Given the description of an element on the screen output the (x, y) to click on. 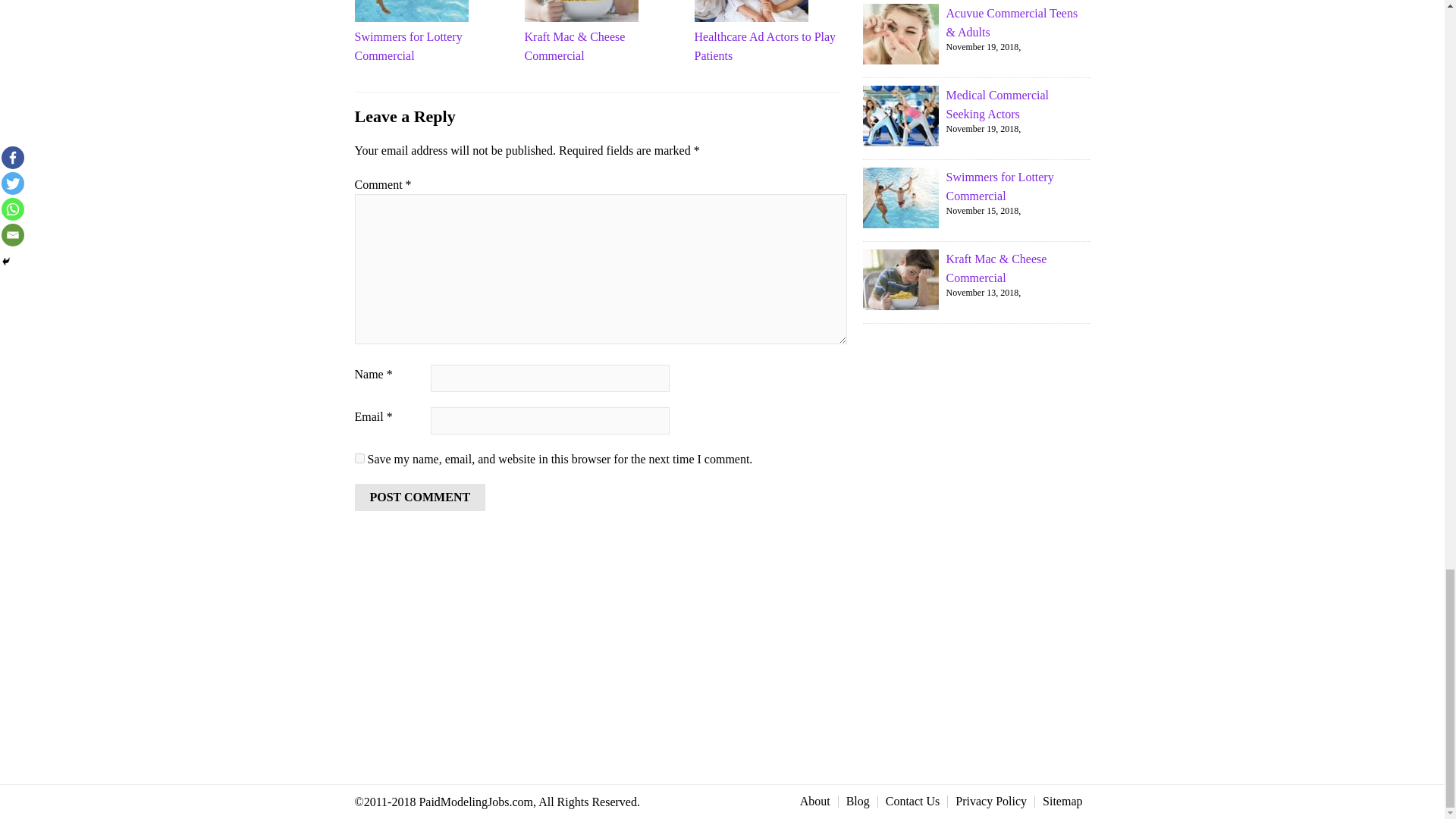
Post Comment (420, 497)
yes (360, 458)
